Given the description of an element on the screen output the (x, y) to click on. 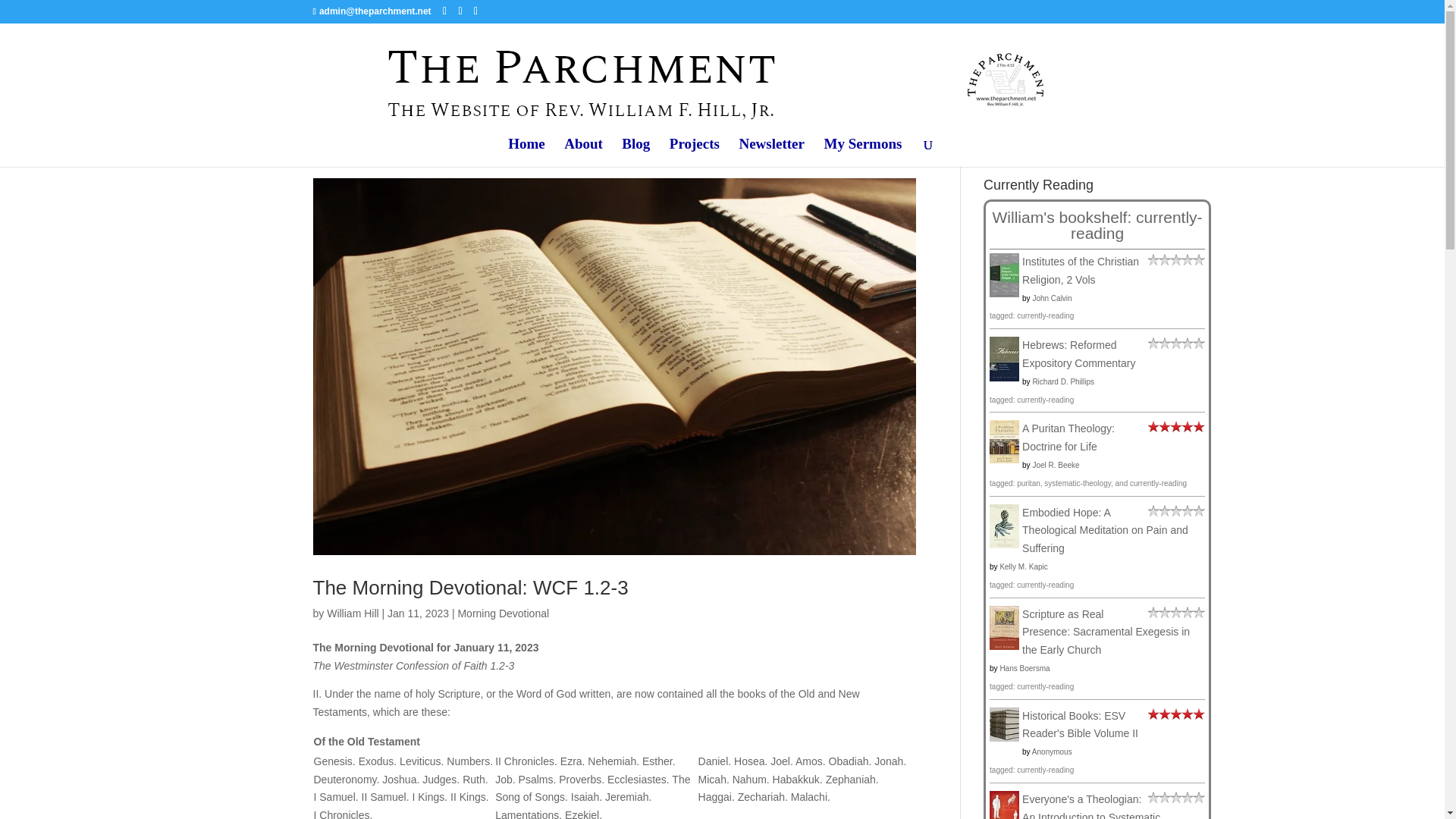
A Puritan Theology: Doctrine for Life (1004, 459)
Newsletter (771, 152)
Historical Books: ESV Reader's Bible Volume II (1004, 737)
Morning Devotional (502, 613)
Hebrews: Reformed Expository Commentary (1004, 377)
Blog (635, 152)
William's bookshelf: currently-reading (1096, 224)
it was amazing (1176, 428)
